Given the description of an element on the screen output the (x, y) to click on. 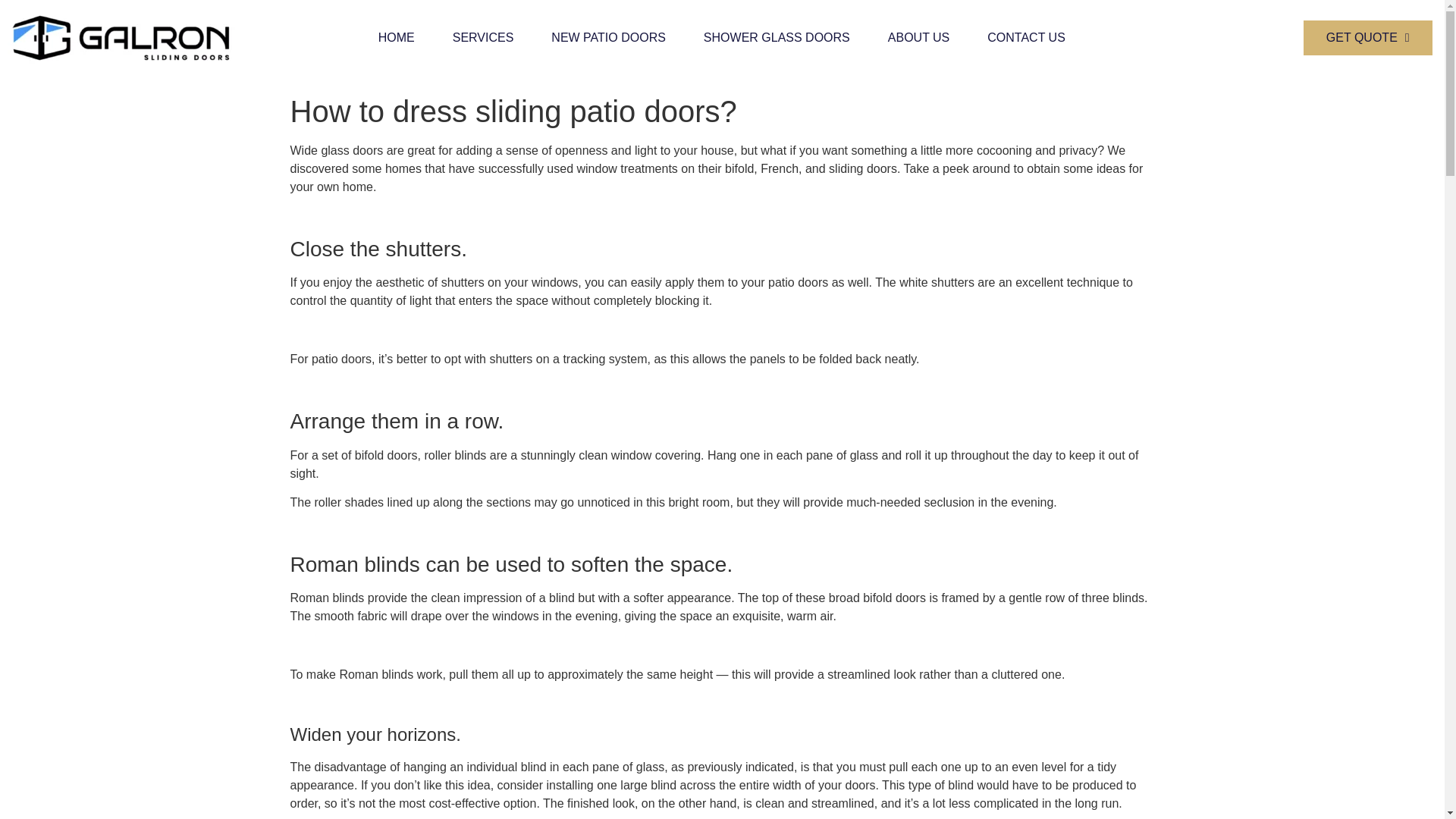
SHOWER GLASS DOORS (776, 37)
HOME (396, 37)
NEW PATIO DOORS (608, 37)
ABOUT US (919, 37)
GET QUOTE (1367, 37)
SERVICES (482, 37)
CONTACT US (1026, 37)
